Given the description of an element on the screen output the (x, y) to click on. 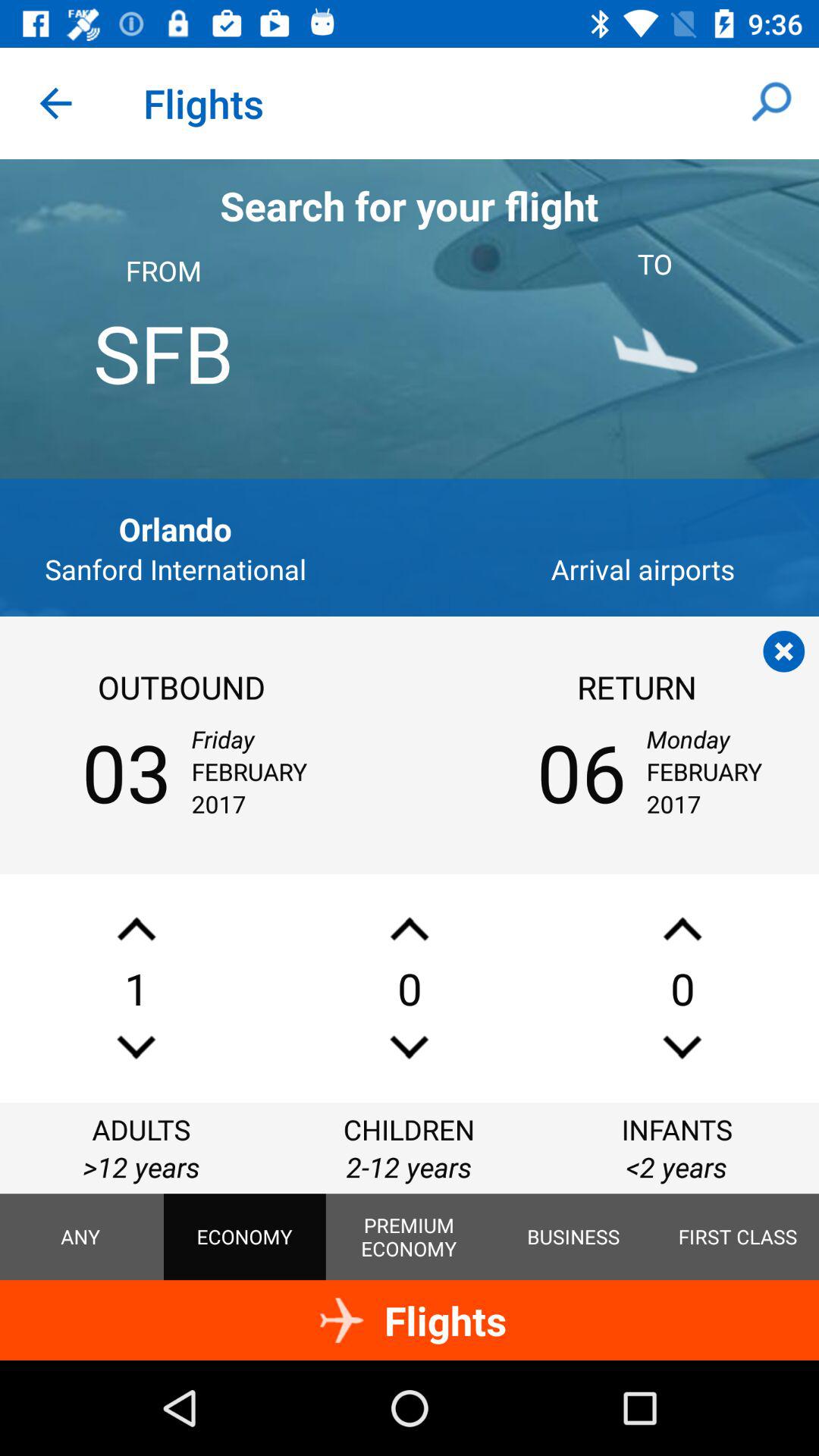
increase adult ticket amount (136, 928)
